Given the description of an element on the screen output the (x, y) to click on. 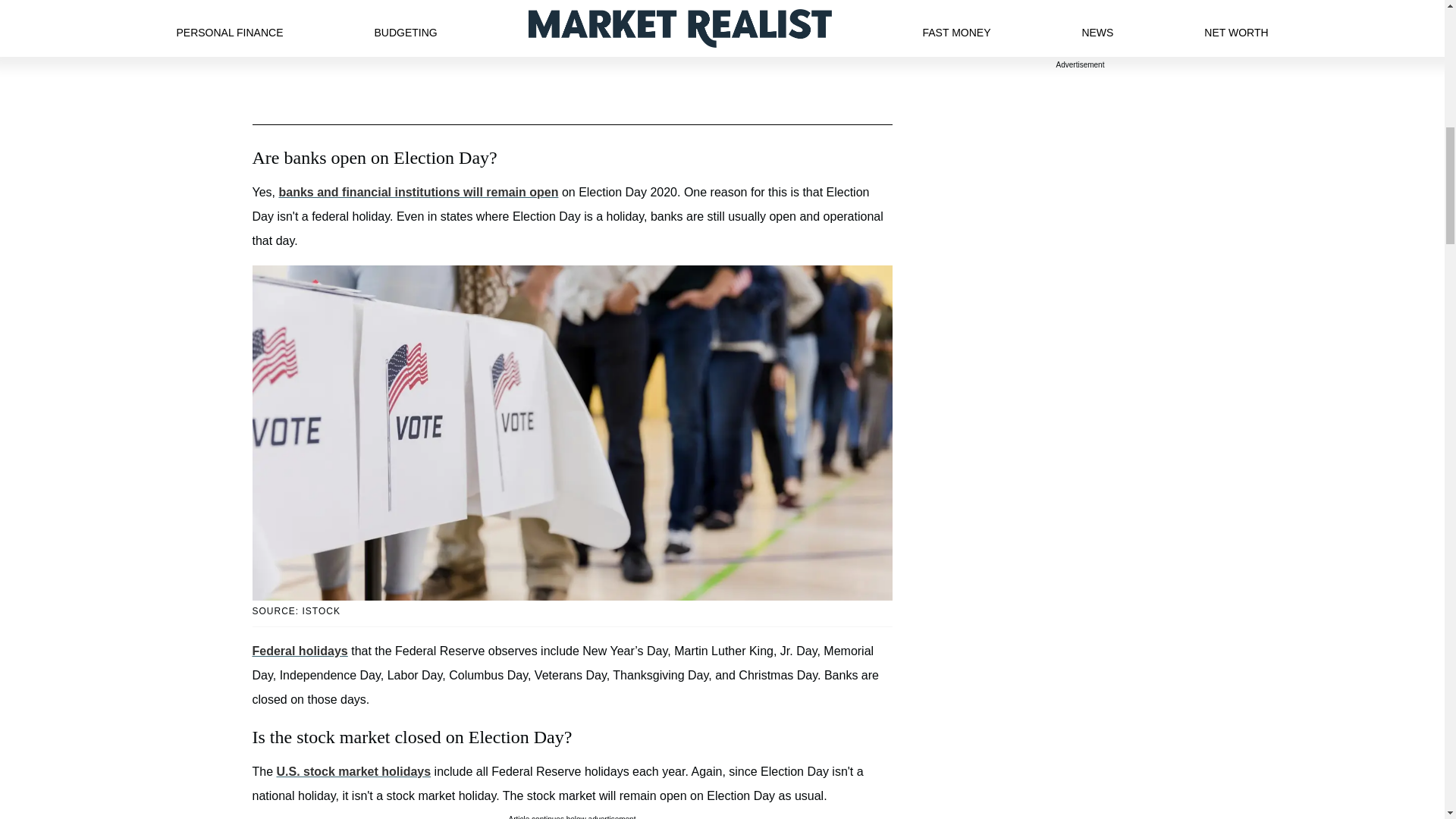
banks and financial institutions will remain open (419, 192)
U.S. stock market holidays (353, 771)
Federal holidays (299, 650)
